Given the description of an element on the screen output the (x, y) to click on. 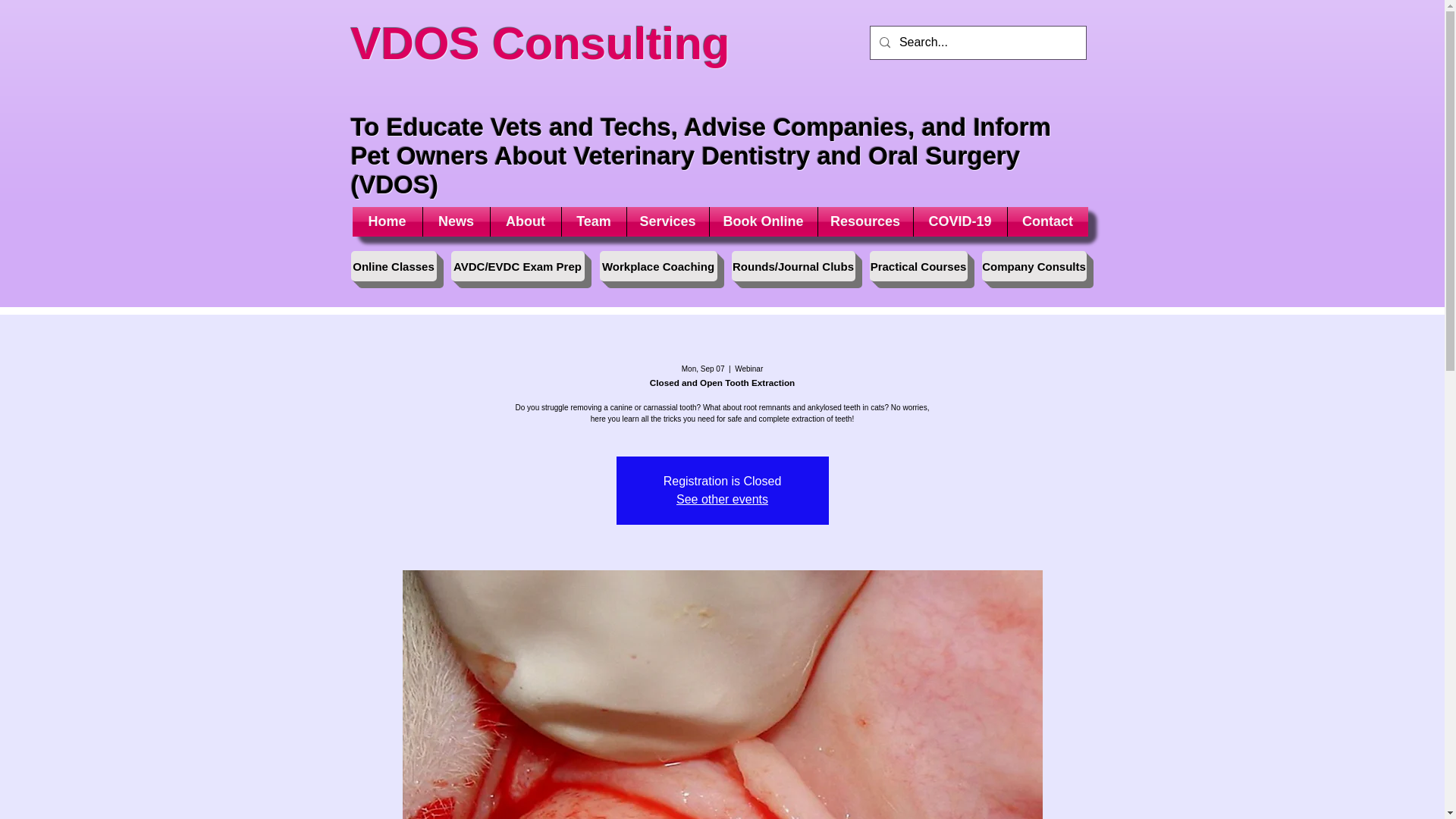
Resources (864, 221)
Online Classes (392, 265)
Book Online (763, 221)
About (524, 221)
Company Consults (1033, 265)
Practical Courses (917, 265)
Contact (1047, 221)
Team (593, 221)
Services (666, 221)
COVID-19 (959, 221)
Workplace Coaching (657, 265)
See other events (722, 499)
News (456, 221)
Home (387, 221)
